Given the description of an element on the screen output the (x, y) to click on. 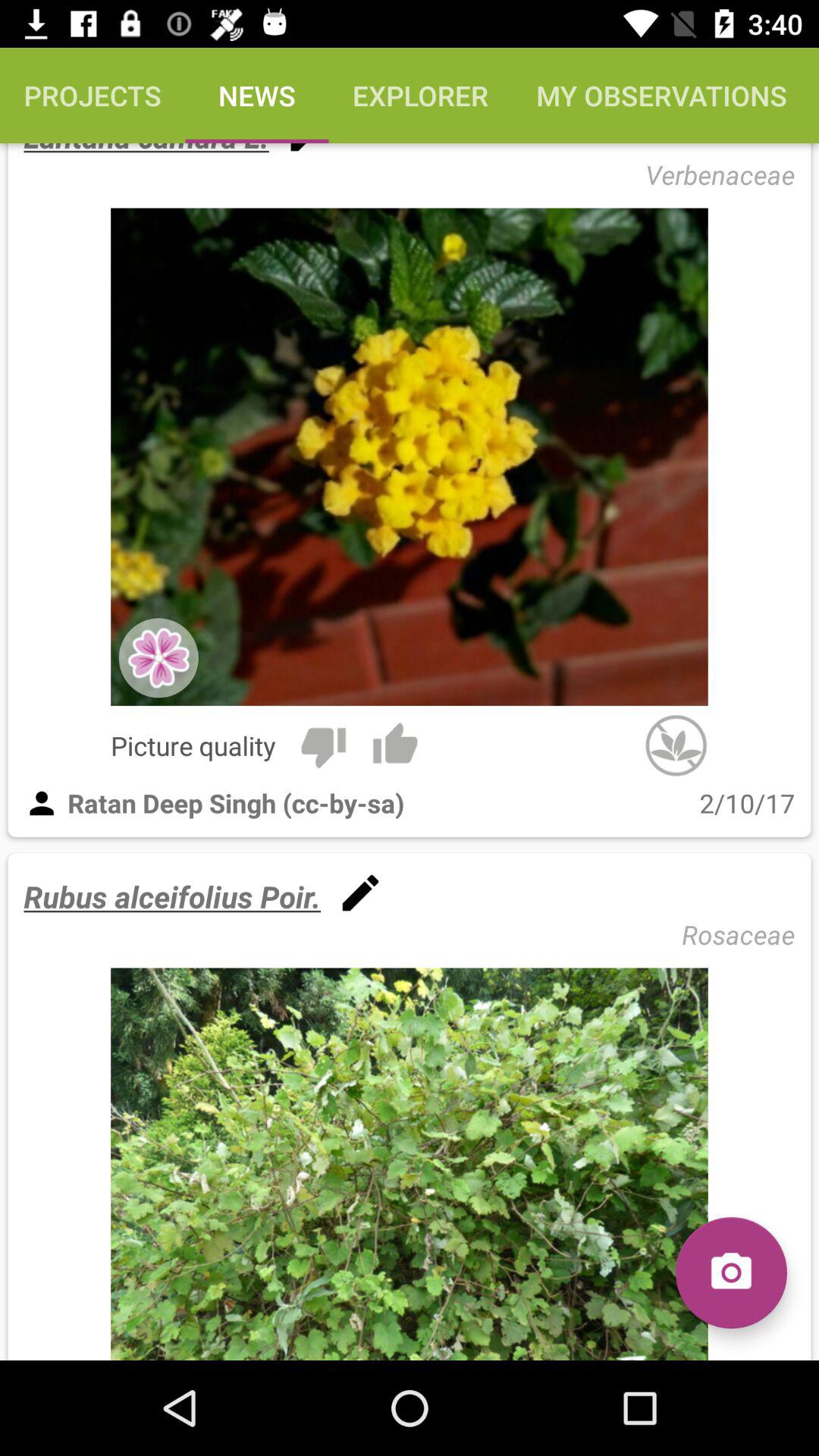
tap the icon at the bottom right corner (731, 1272)
